Given the description of an element on the screen output the (x, y) to click on. 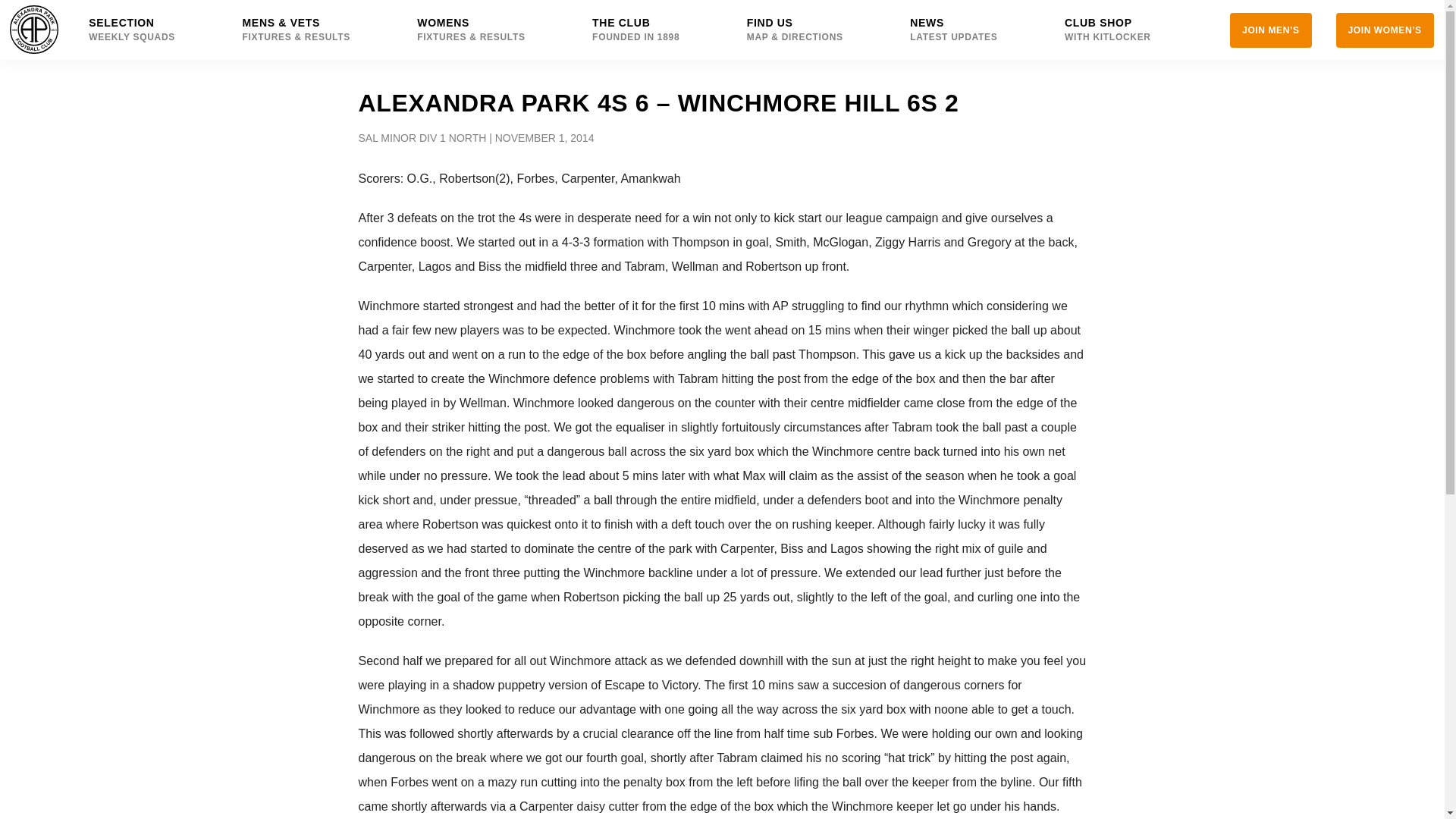
Alexandra Park FC (1119, 30)
ALEXANDRA PARK FC (34, 28)
